Given the description of an element on the screen output the (x, y) to click on. 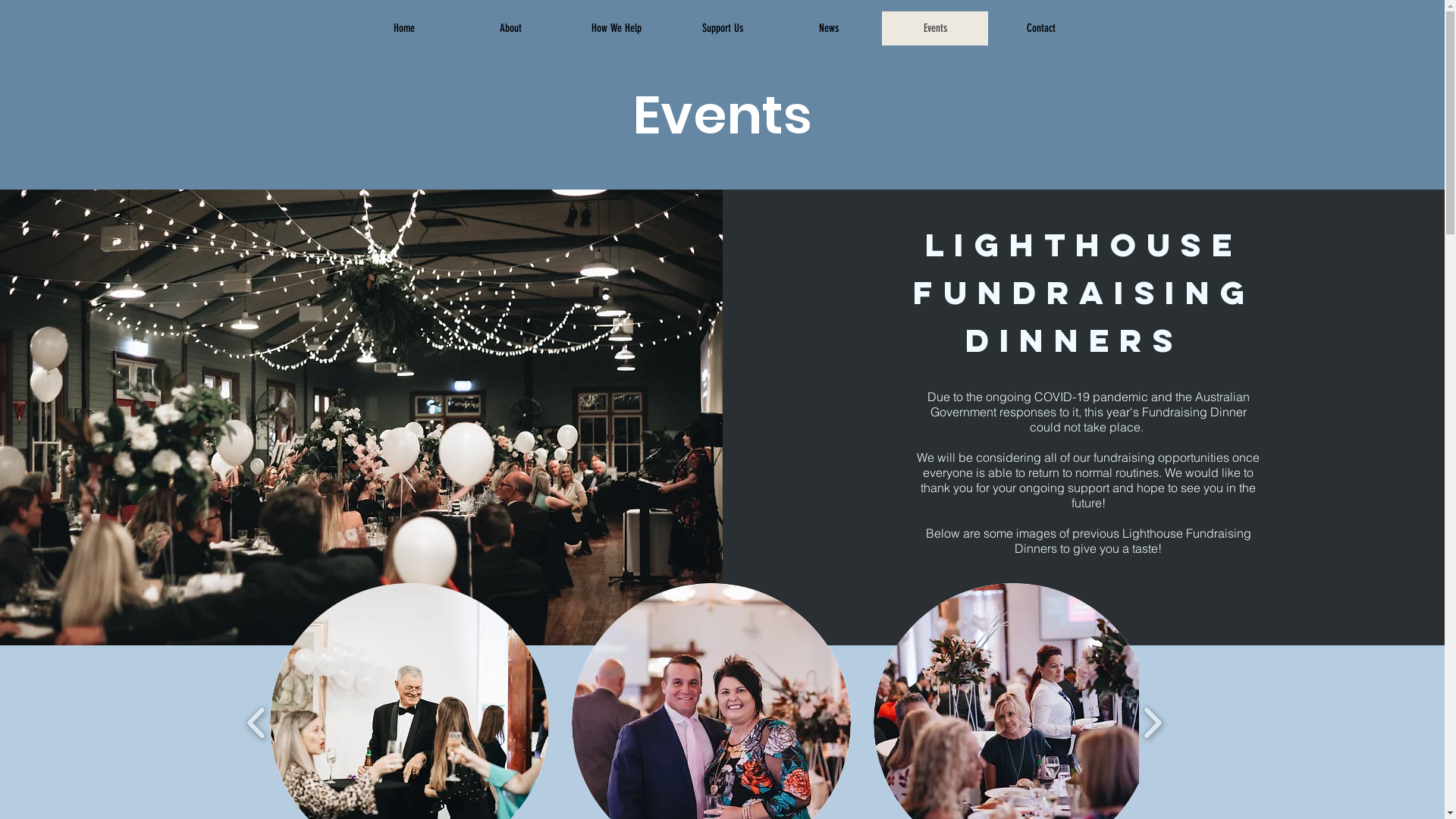
Events Element type: text (934, 28)
Home Element type: text (403, 28)
News Element type: text (828, 28)
About Element type: text (509, 28)
Support Us Element type: text (721, 28)
Contact Element type: text (1040, 28)
